Given the description of an element on the screen output the (x, y) to click on. 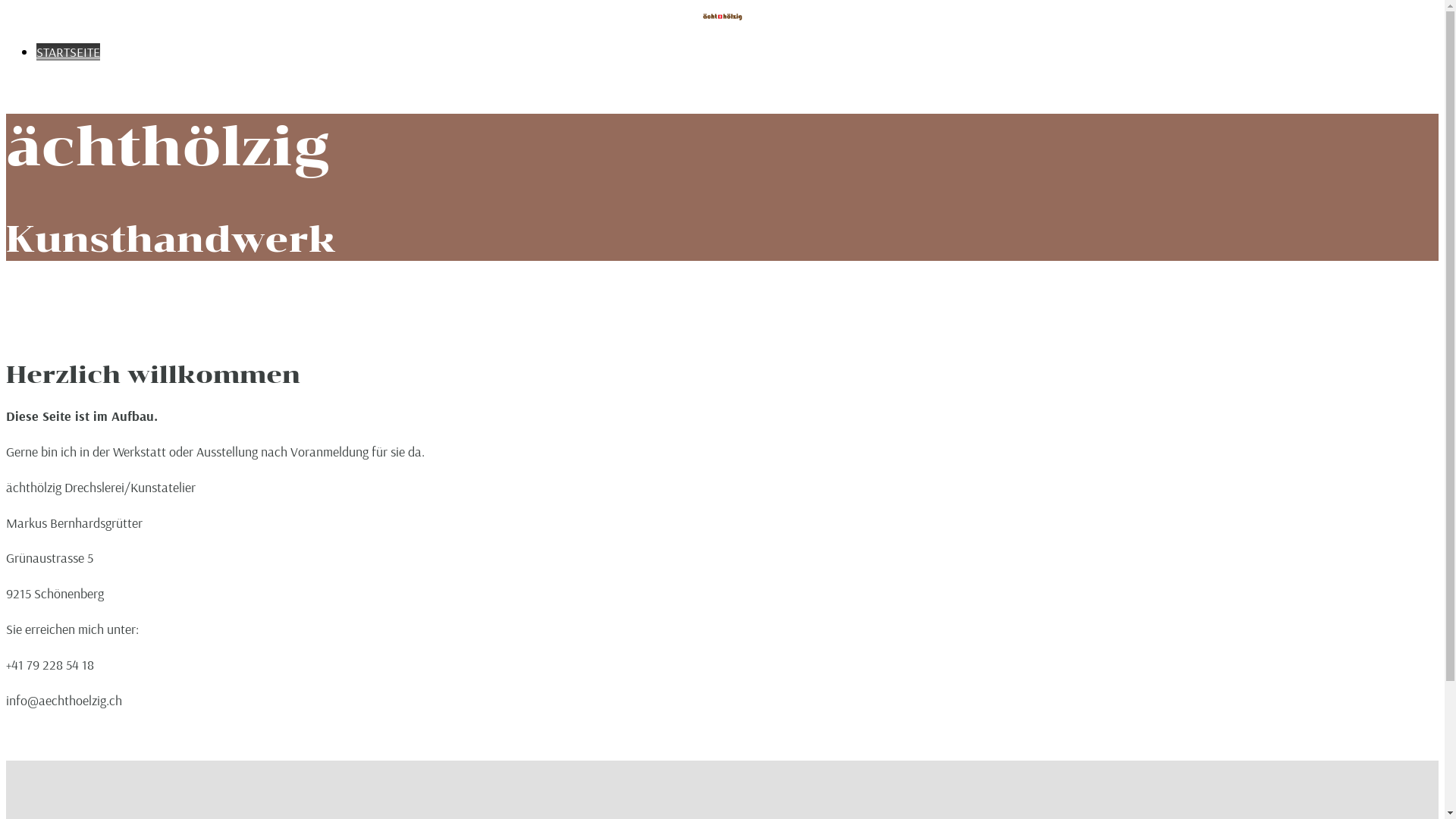
STARTSEITE Element type: text (68, 52)
